Given the description of an element on the screen output the (x, y) to click on. 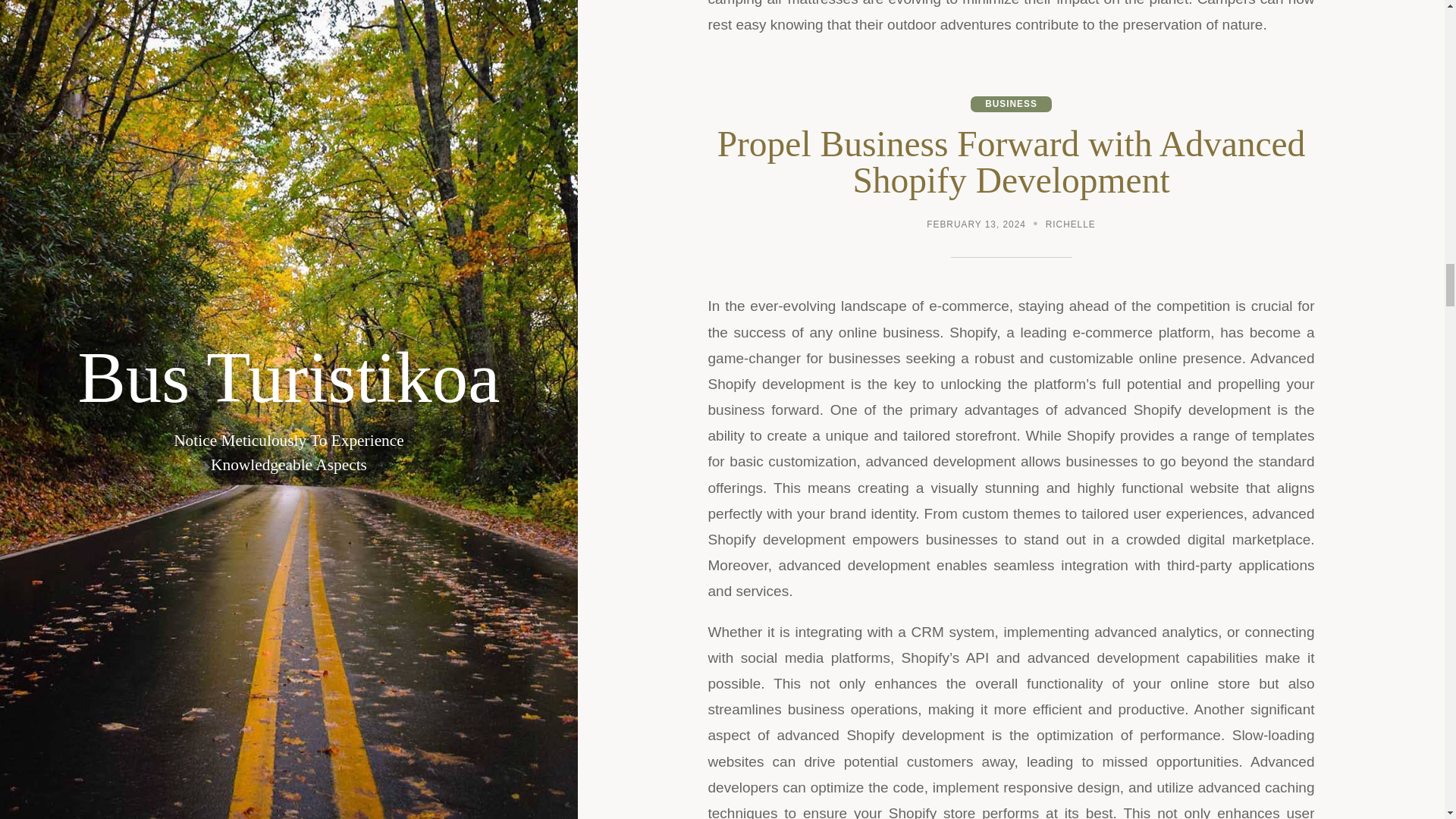
RICHELLE (1070, 225)
BUSINESS (1011, 104)
FEBRUARY 13, 2024 (976, 225)
Propel Business Forward with Advanced Shopify Development (1011, 161)
